Given the description of an element on the screen output the (x, y) to click on. 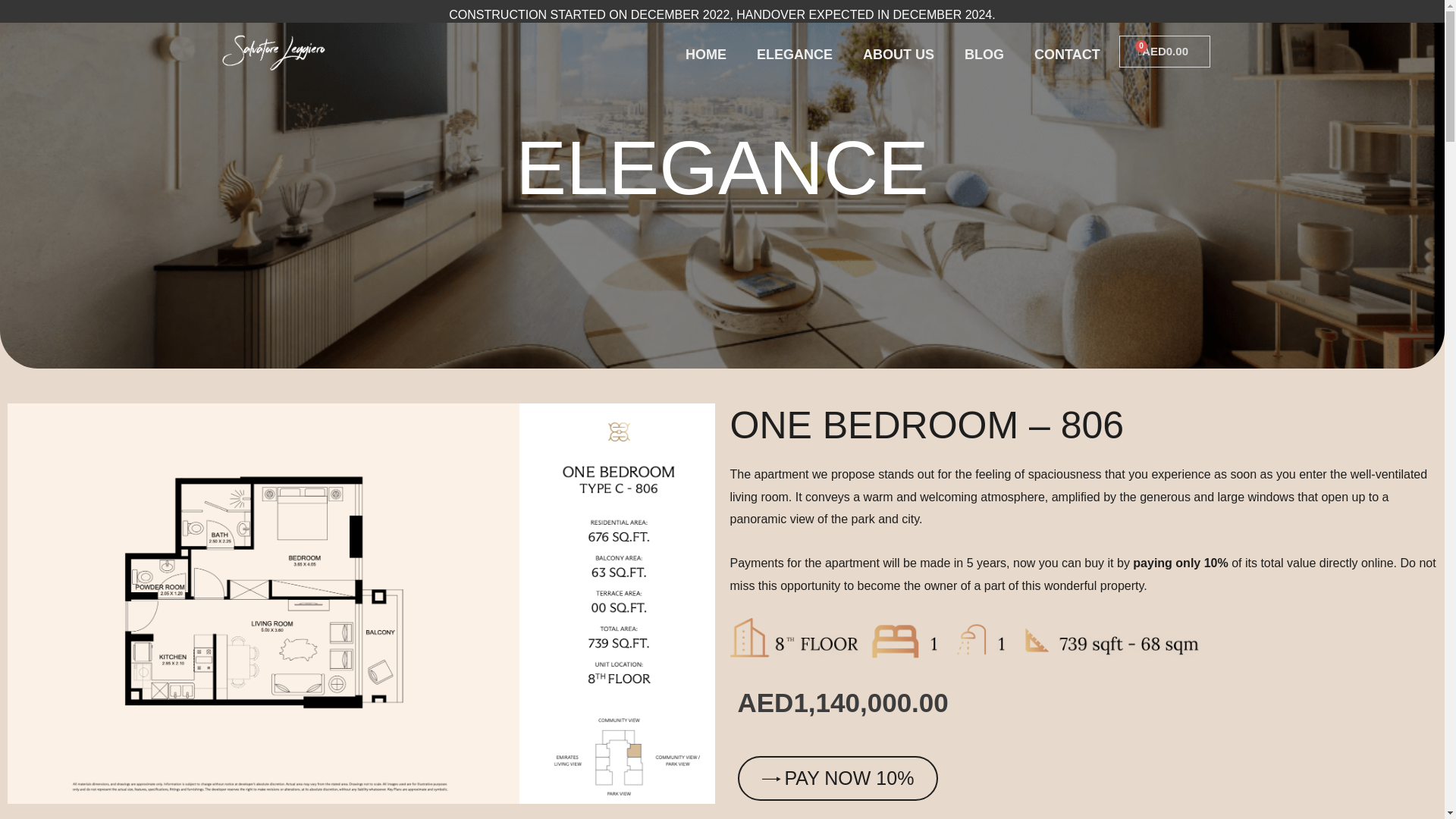
BLOG (1165, 51)
ELEGANCE (984, 54)
HOME (794, 54)
ABOUT US (705, 54)
CONTACT (898, 54)
Screenshot 2023-01-20 at 23.06.42 (1067, 54)
